Given the description of an element on the screen output the (x, y) to click on. 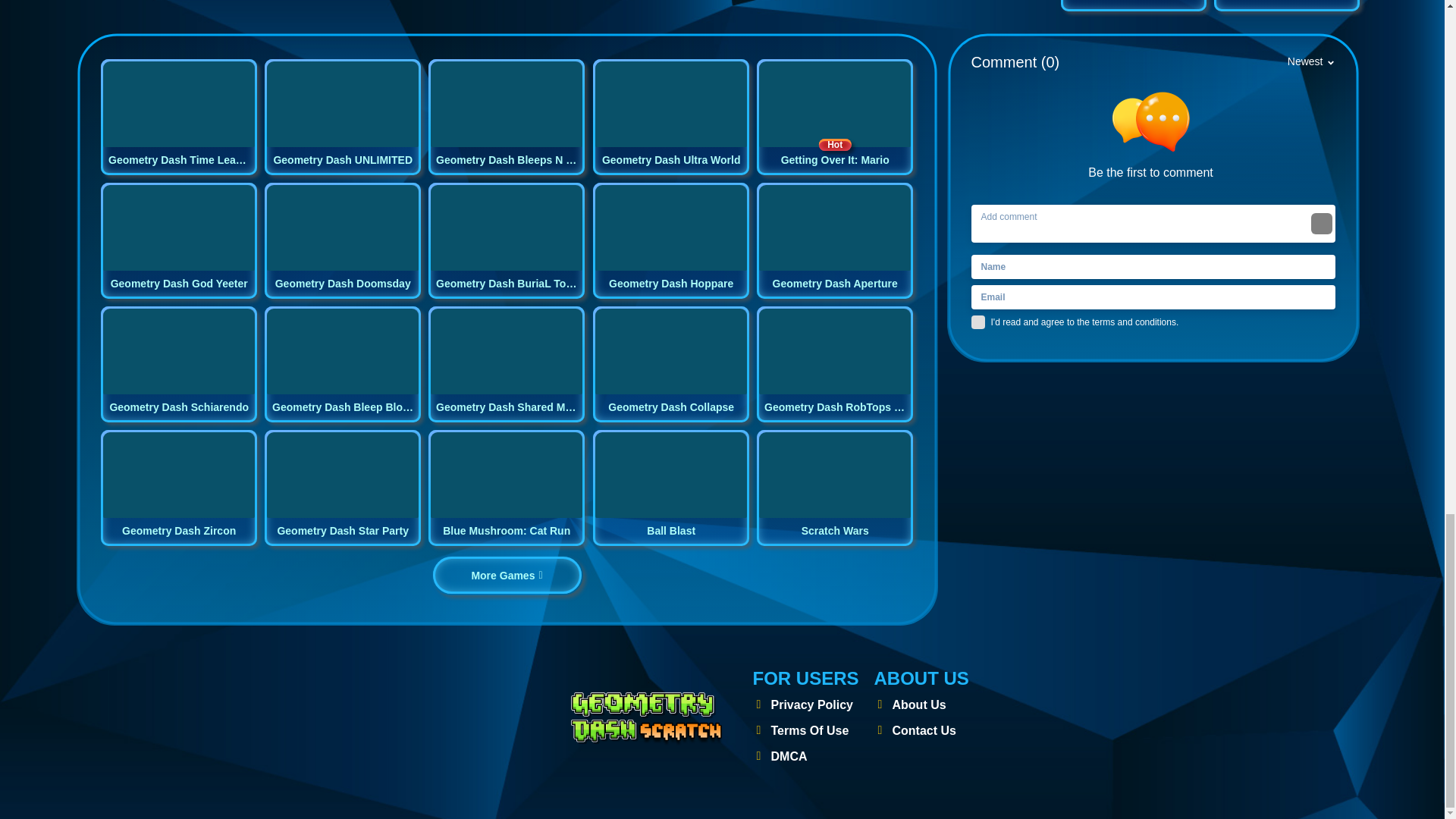
Be the first to comment (1156, 136)
